Given the description of an element on the screen output the (x, y) to click on. 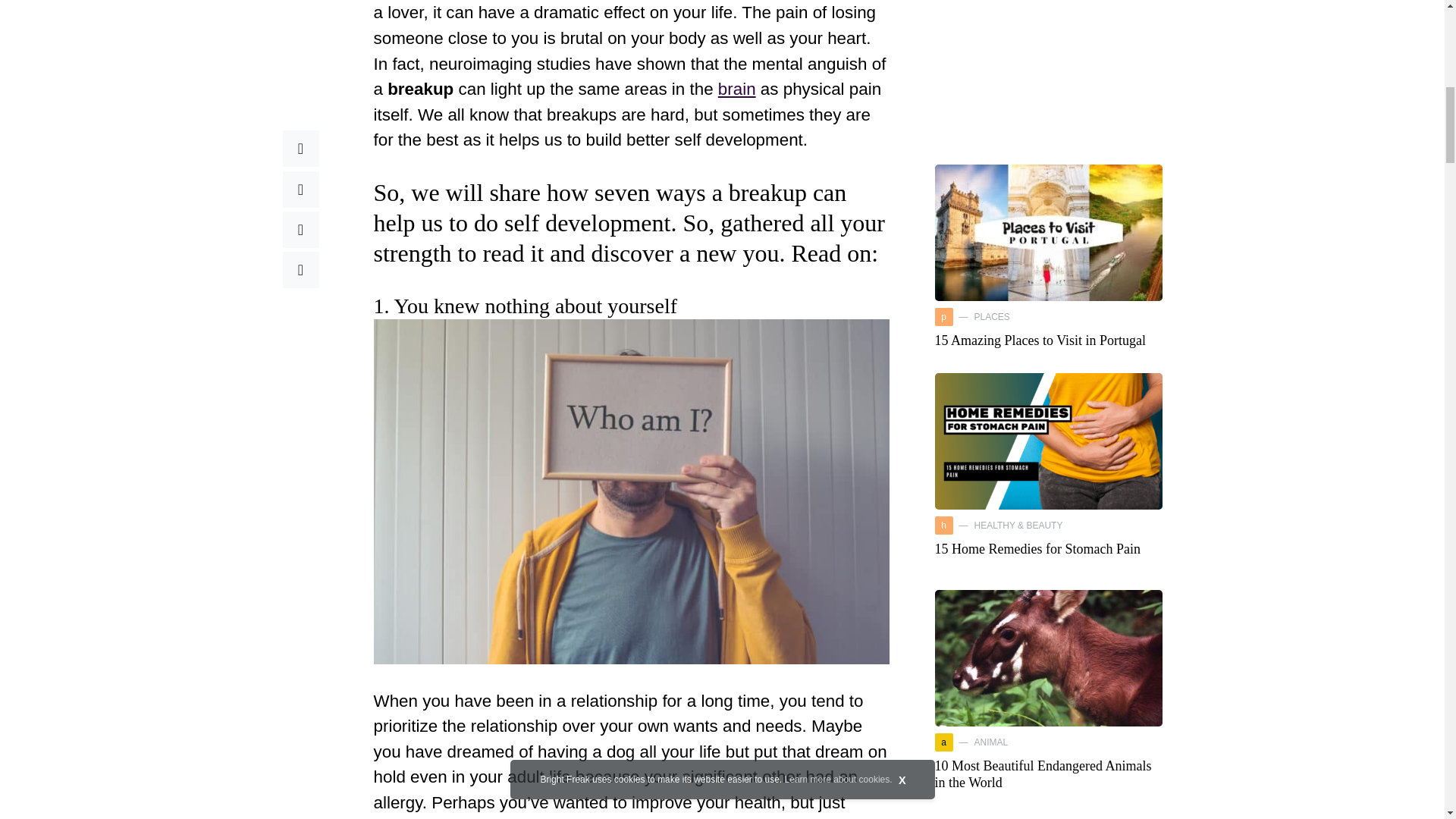
15 Home Remedies for Stomach Pain (1037, 210)
10 Most Beautiful Endangered Animals in the World (1042, 435)
brain (736, 88)
15 Amazing Places to Visit in Portugal (1039, 4)
